Given the description of an element on the screen output the (x, y) to click on. 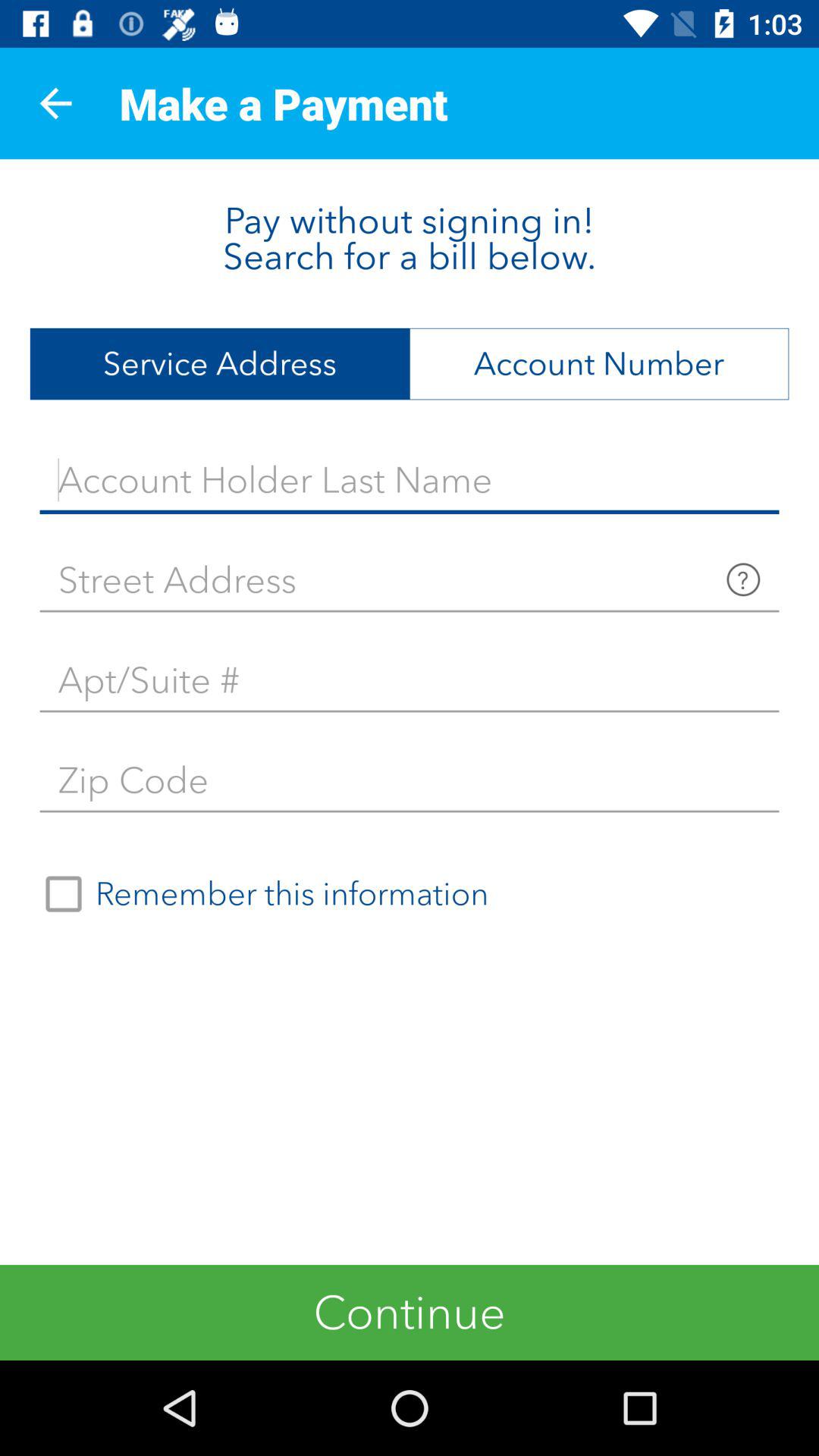
select item to the left of the account number item (219, 363)
